Given the description of an element on the screen output the (x, y) to click on. 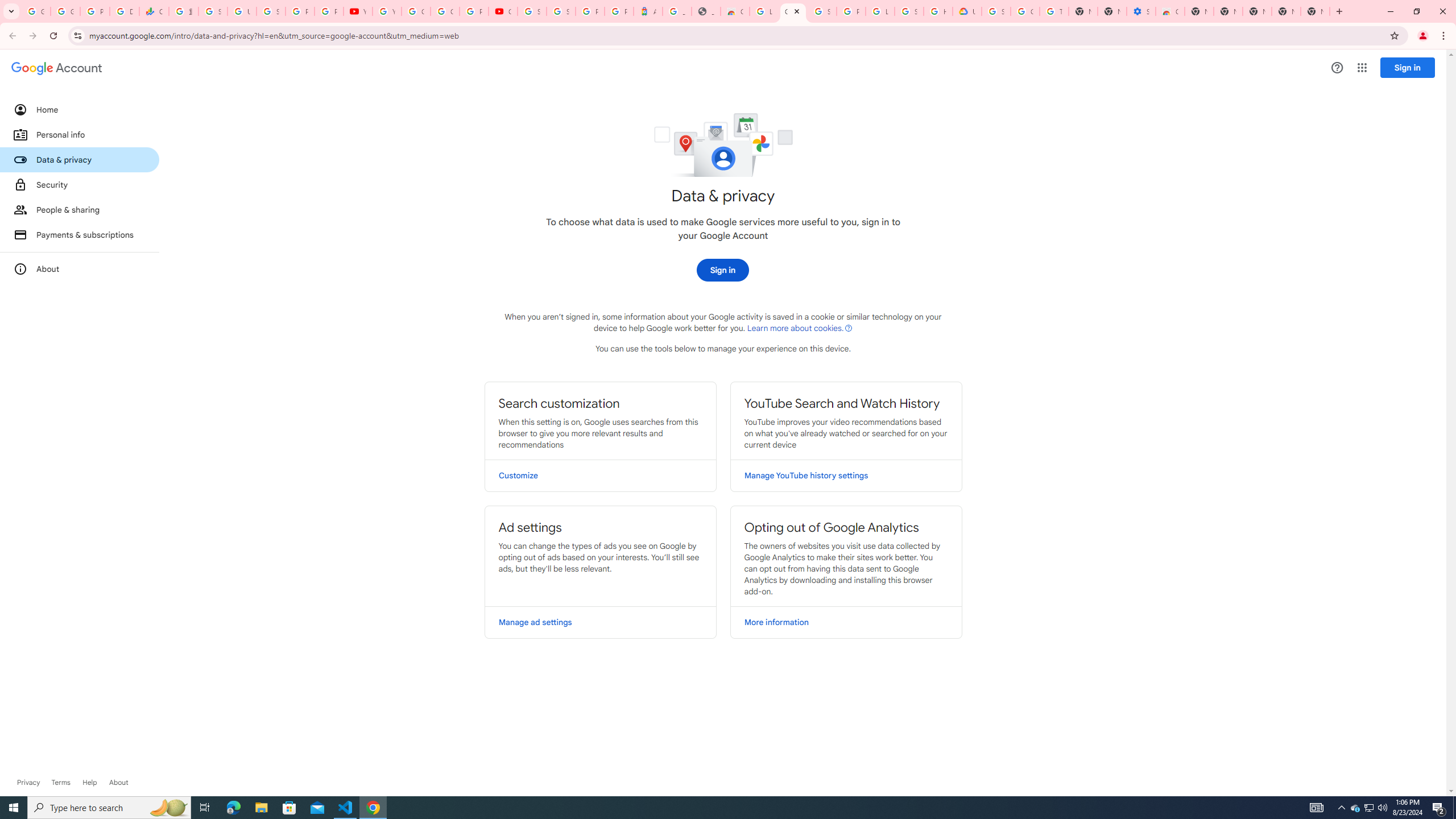
Data & privacy (79, 159)
